Given the description of an element on the screen output the (x, y) to click on. 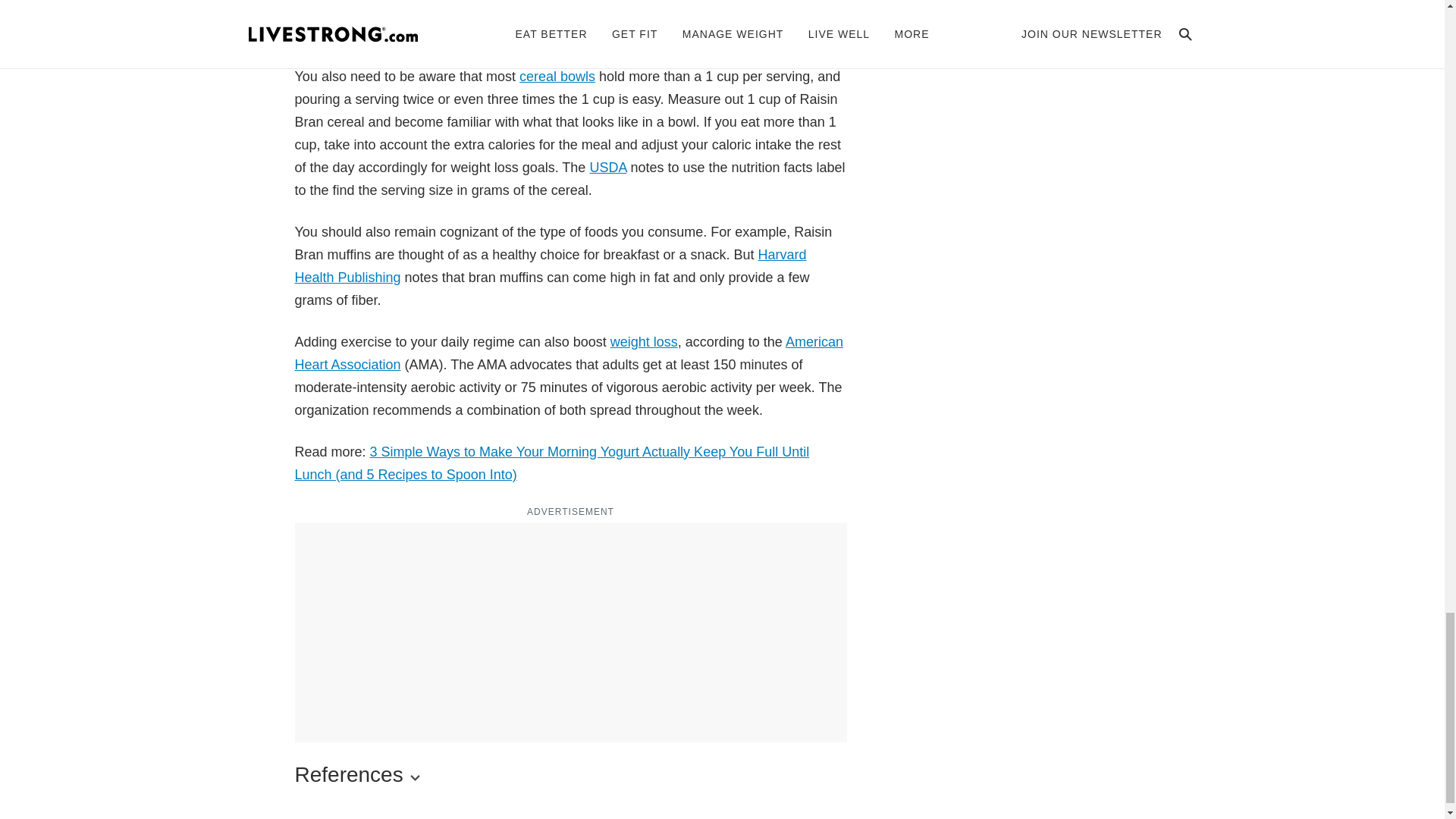
Harvard Health Publishing (550, 266)
cereal bowls (557, 76)
USDA (607, 167)
